Given the description of an element on the screen output the (x, y) to click on. 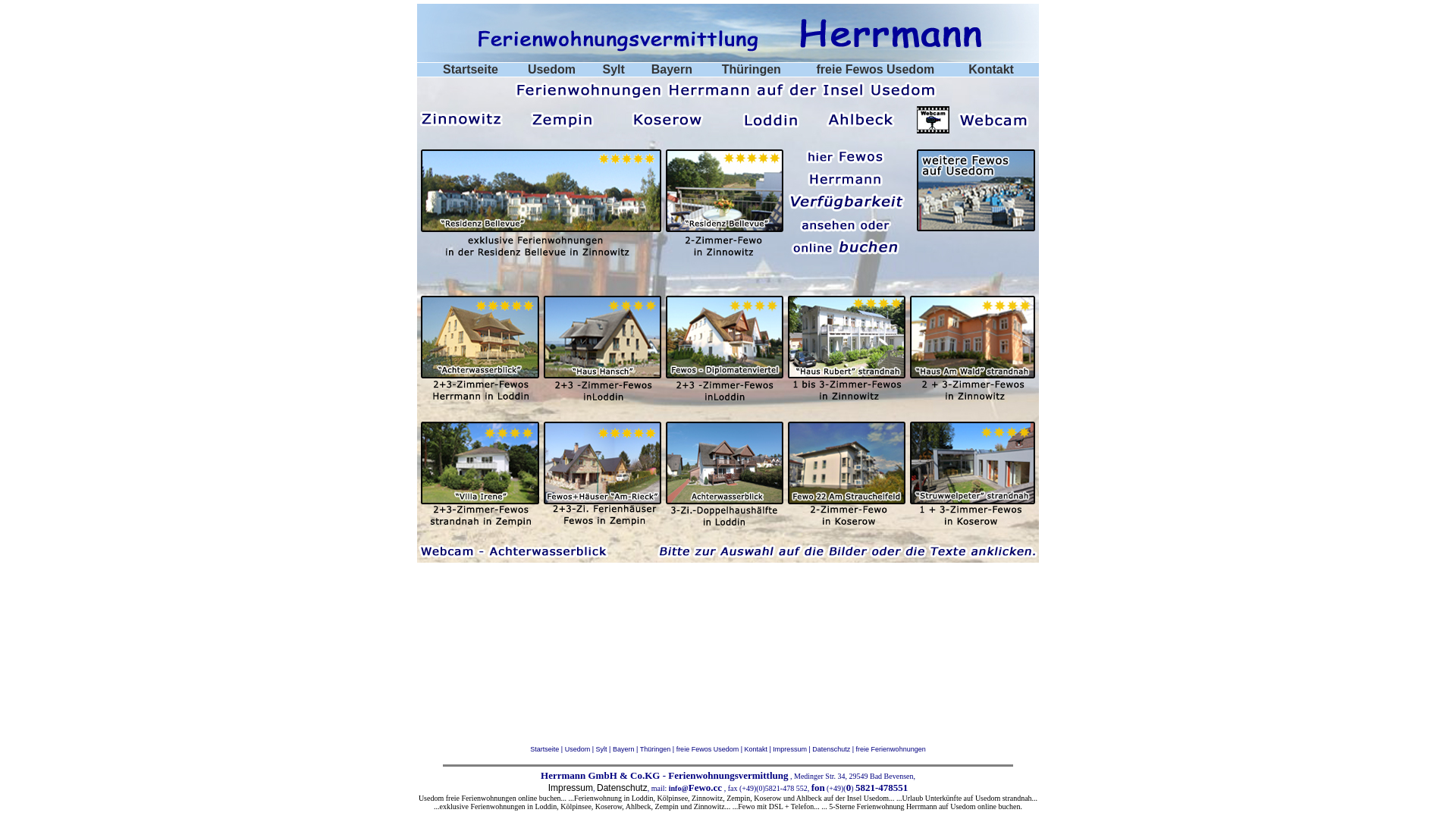
freie Fewos Usedom Element type: text (875, 68)
Kontakt Element type: text (990, 68)
Kontakt Element type: text (756, 749)
 | Impressum Element type: text (786, 749)
Sylt Element type: text (613, 68)
freie Fewos Usedom |  Element type: text (710, 749)
 | Datenschutz Element type: text (828, 749)
Datenschutz Element type: text (621, 787)
Bayern |  Element type: text (626, 749)
 | freie Ferienwohnungen Element type: text (887, 749)
Usedom Element type: text (551, 68)
Usedom |  Element type: text (580, 749)
Startseite |  Element type: text (547, 749)
Startseite Element type: text (470, 68)
Impressum Element type: text (570, 787)
Sylt |  Element type: text (604, 749)
Bayern Element type: text (671, 68)
